Given the description of an element on the screen output the (x, y) to click on. 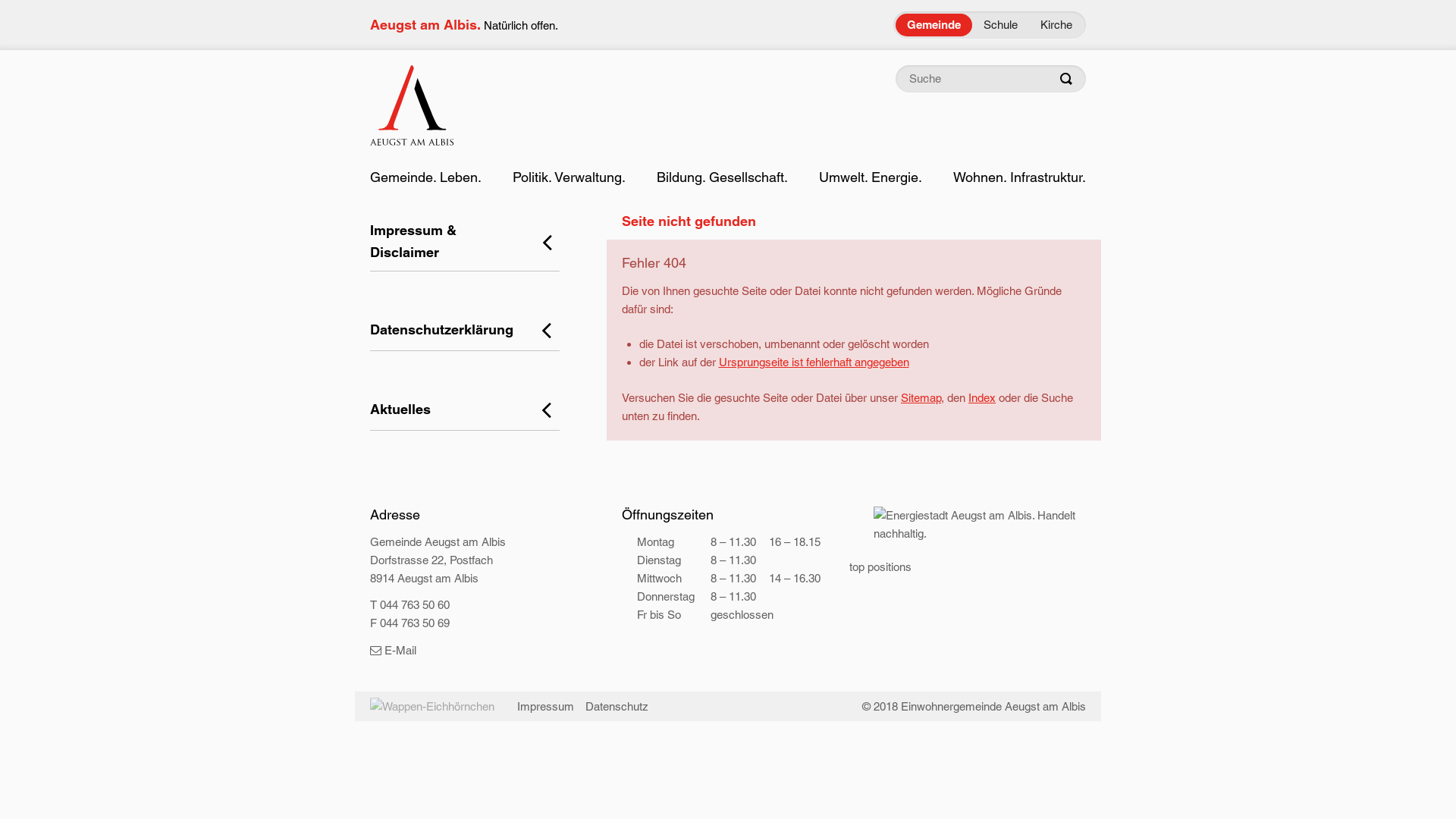
Aktuelles Element type: text (464, 409)
top positions Element type: text (880, 566)
Kirche Element type: text (1056, 24)
Gemeinde Element type: text (933, 24)
Gemeinde. Leben. Element type: text (425, 177)
Impressum & Disclaimer Element type: text (464, 242)
Index Element type: text (981, 397)
Umwelt. Energie. Element type: text (870, 177)
Wohnen. Infrastruktur. Element type: text (1019, 177)
Schule Element type: text (1000, 24)
Bildung. Gesellschaft. Element type: text (722, 177)
Ursprungseite ist fehlerhaft angegeben Element type: text (813, 361)
Datenschutz Element type: text (616, 705)
Impressum Element type: text (545, 705)
E-Mail Element type: text (393, 649)
Politik. Verwaltung. Element type: text (569, 177)
Sitemap Element type: text (920, 397)
